Given the description of an element on the screen output the (x, y) to click on. 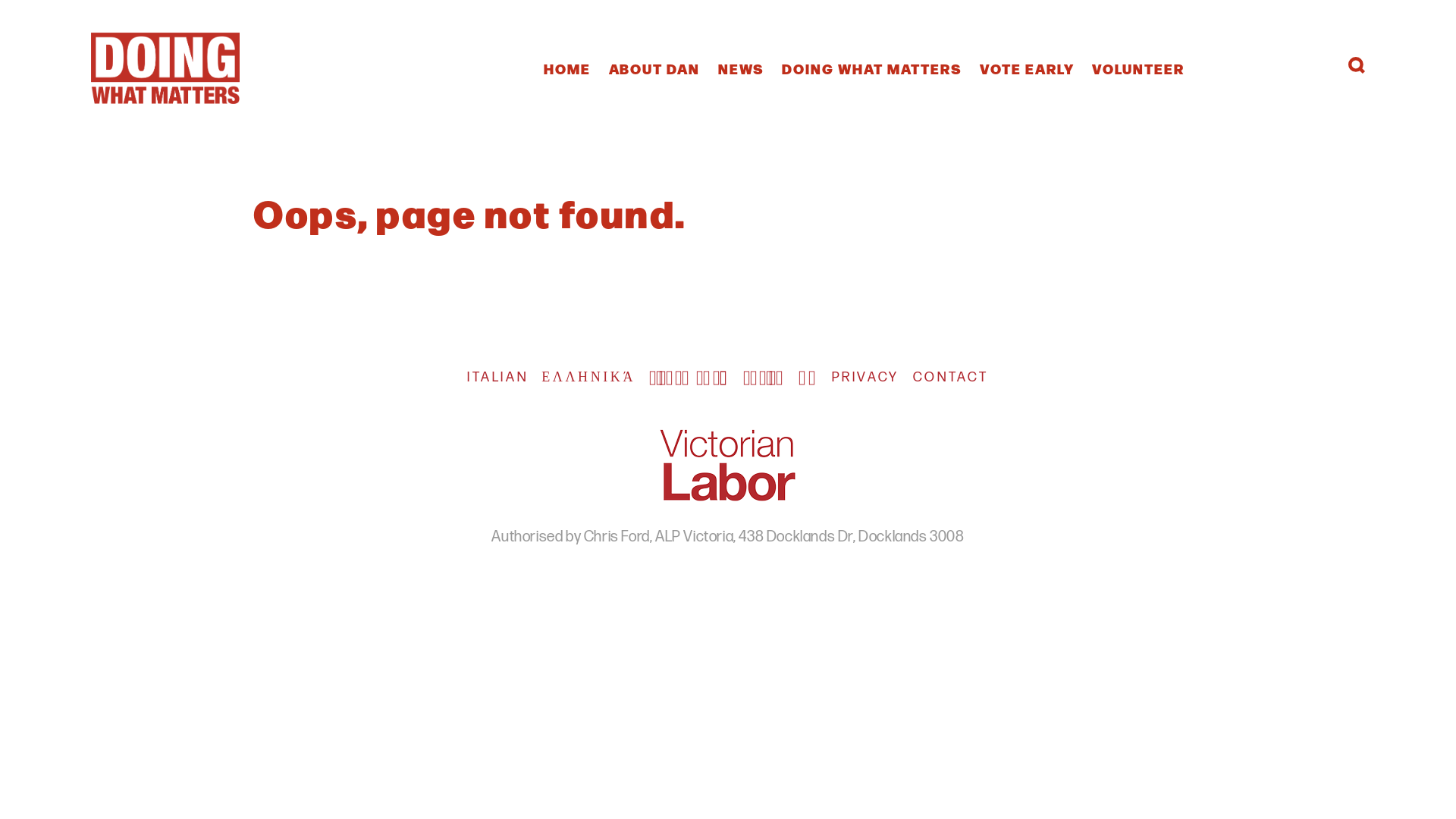
VOTE EARLY Element type: text (1026, 68)
NEWS Element type: text (741, 68)
DOING WHAT MATTERS Element type: text (871, 68)
ITALIAN Element type: text (504, 377)
ABOUT DAN Element type: text (654, 68)
PRIVACY Element type: text (872, 377)
VOLUNTEER Element type: text (1138, 68)
HOME Element type: text (566, 68)
CONTACT Element type: text (957, 377)
